Given the description of an element on the screen output the (x, y) to click on. 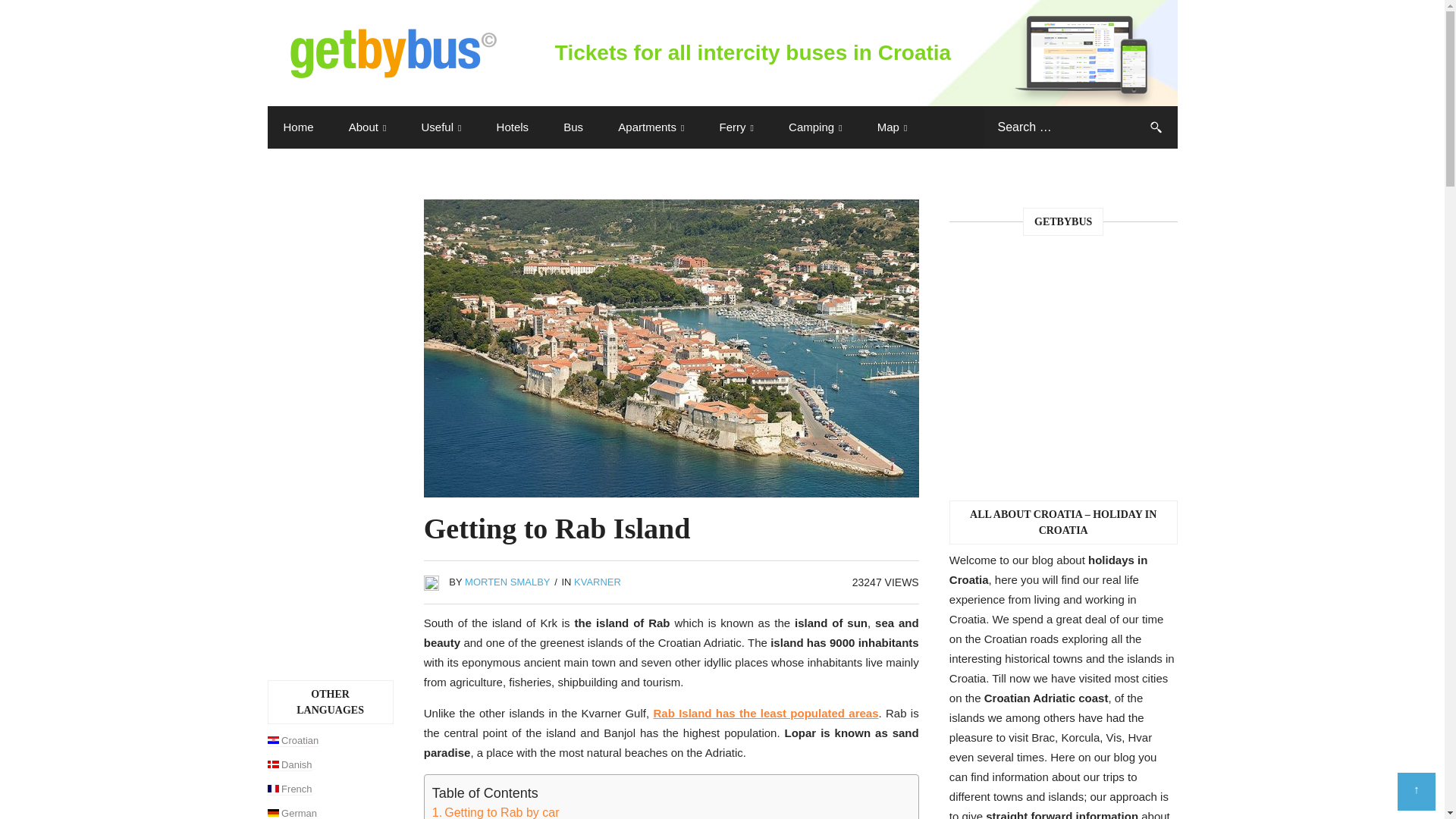
Bus (572, 127)
Getting to Rab by car (495, 811)
Search (1155, 127)
Ferry Croatia (736, 127)
About us (368, 127)
Apartments (651, 127)
Search (1155, 127)
Useful Stuff (440, 127)
KVARNER (597, 582)
Tickets for all intercity buses in Croatia (721, 53)
Hotels Croatia (512, 127)
Home (297, 127)
Rab Island has the least populated areas (764, 712)
About (368, 127)
Camping (815, 127)
